Given the description of an element on the screen output the (x, y) to click on. 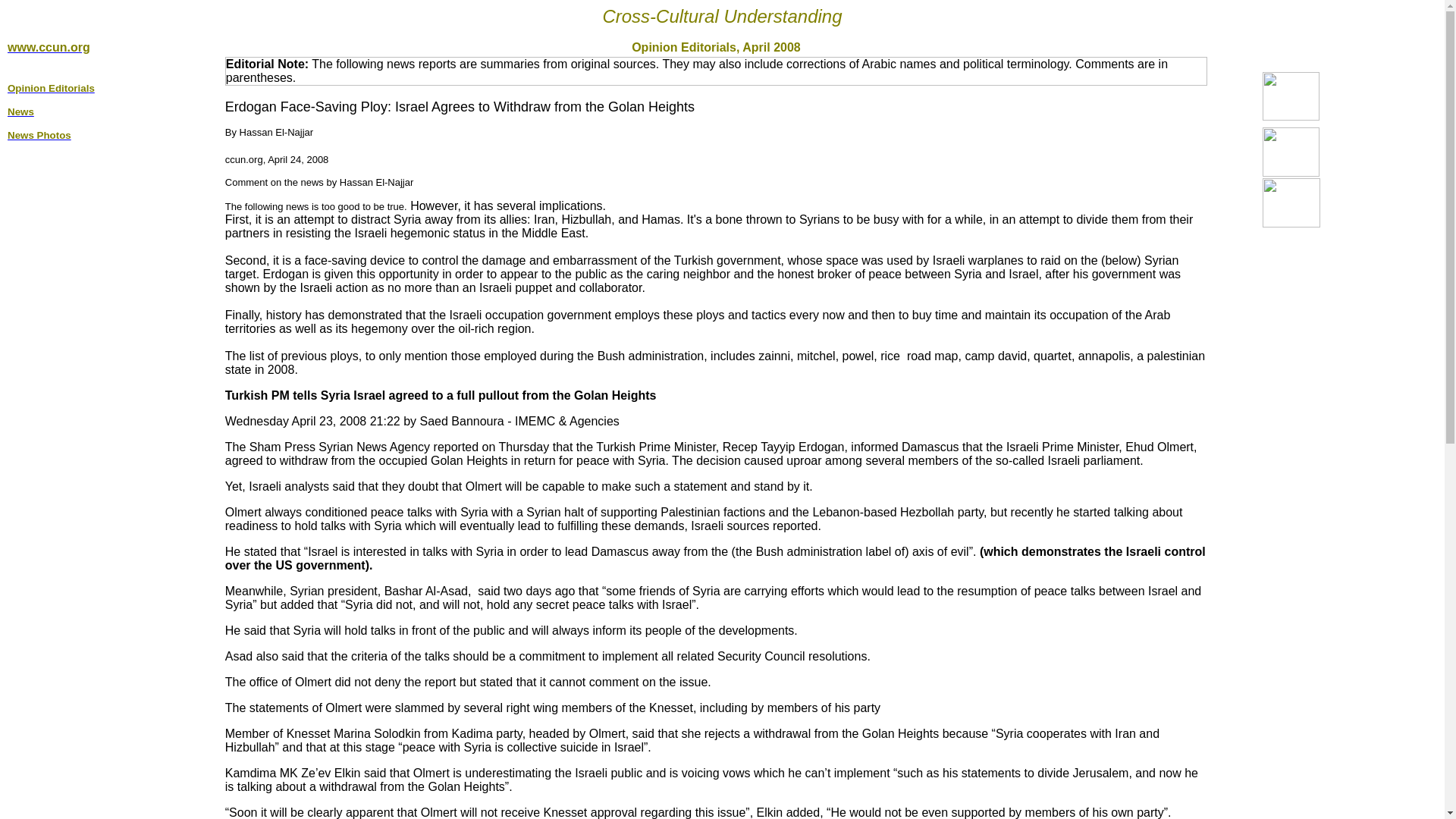
News (20, 110)
Opinion Editorials (50, 87)
News Photos (39, 133)
www.ccun.org (48, 47)
